Given the description of an element on the screen output the (x, y) to click on. 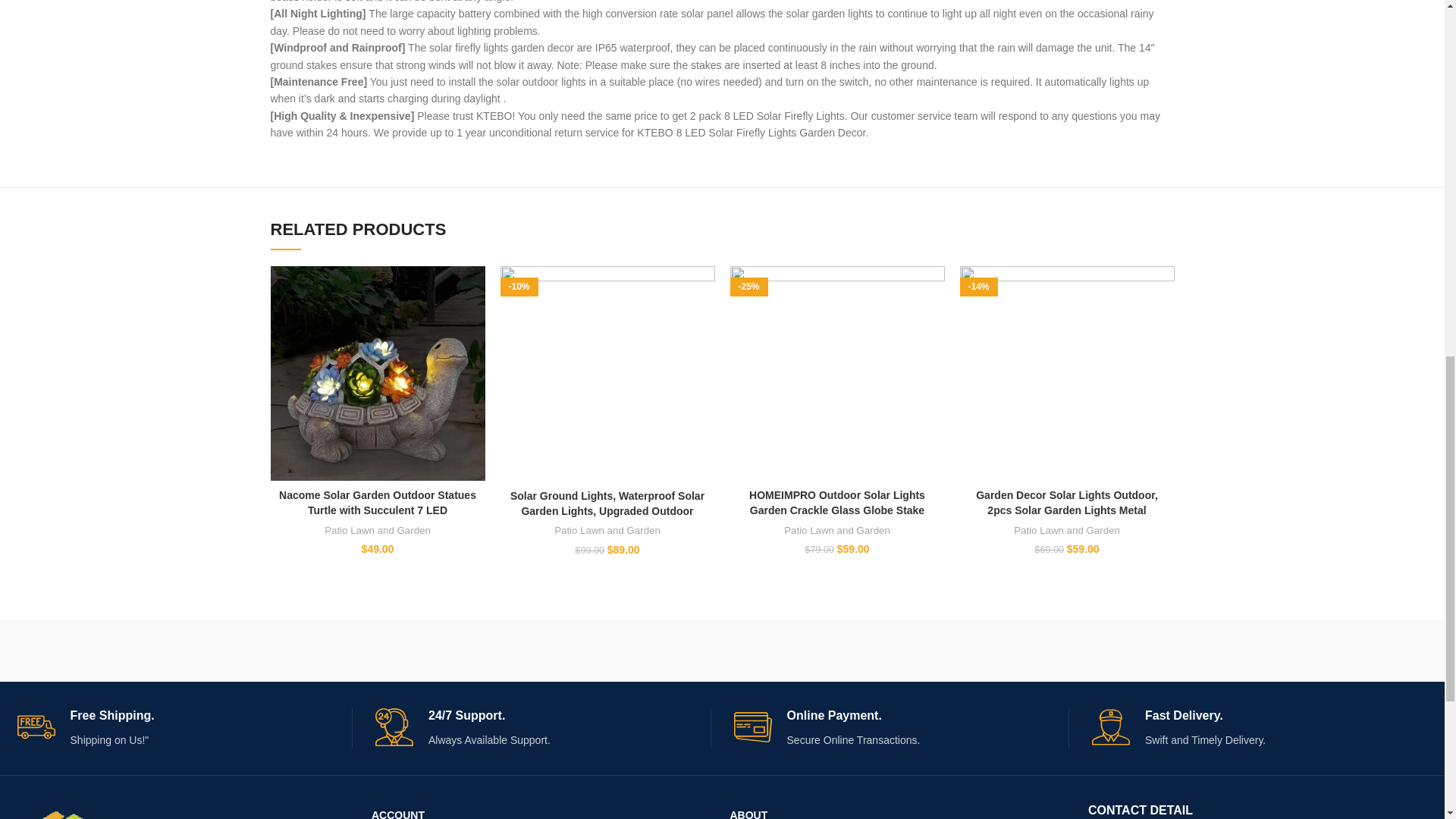
Magisso (317, 650)
Vitra (114, 650)
Louis Poulsen (520, 650)
